Given the description of an element on the screen output the (x, y) to click on. 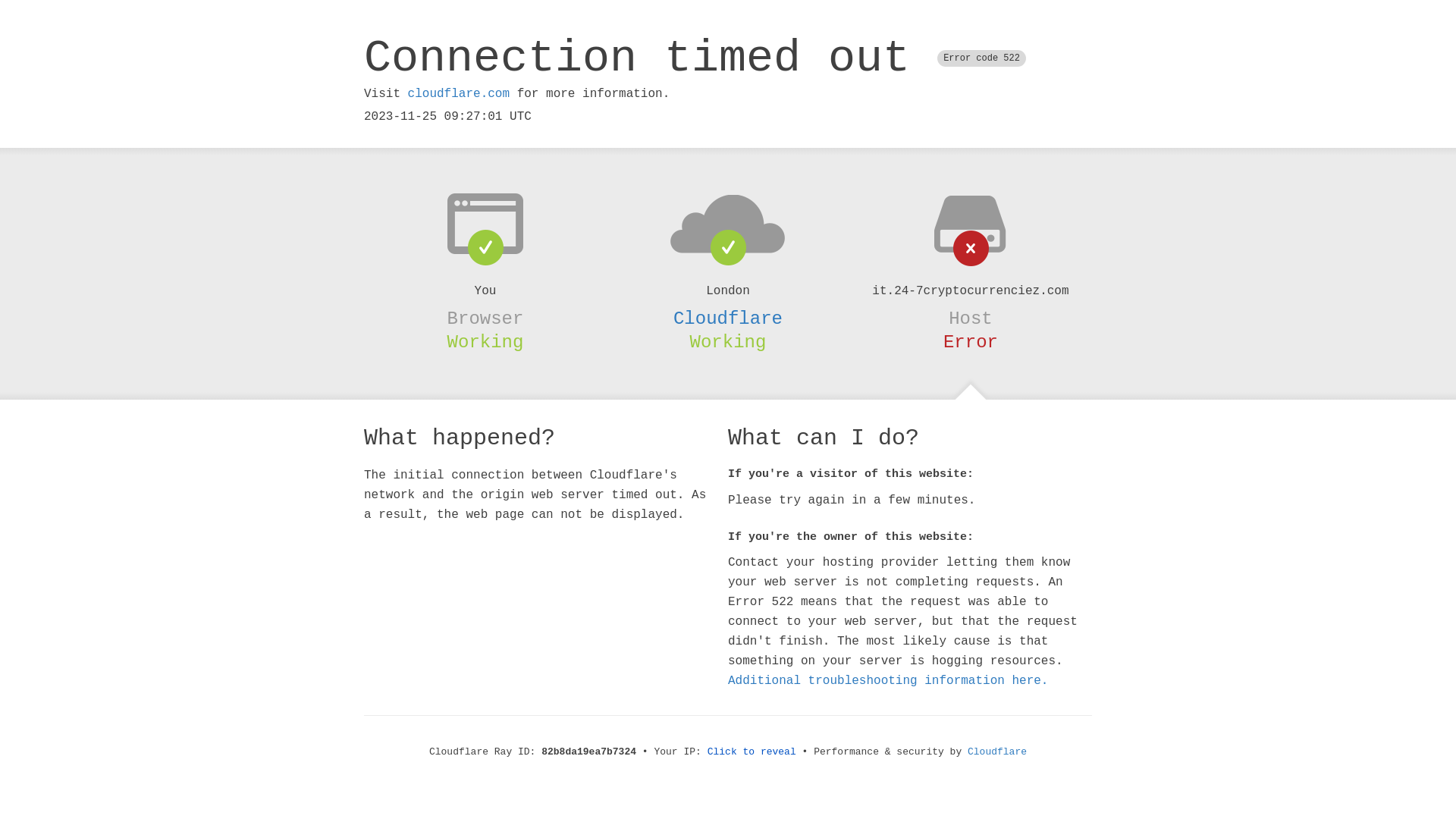
Cloudflare Element type: text (727, 318)
Cloudflare Element type: text (996, 751)
Additional troubleshooting information here. Element type: text (888, 680)
Click to reveal Element type: text (751, 751)
cloudflare.com Element type: text (458, 93)
